Given the description of an element on the screen output the (x, y) to click on. 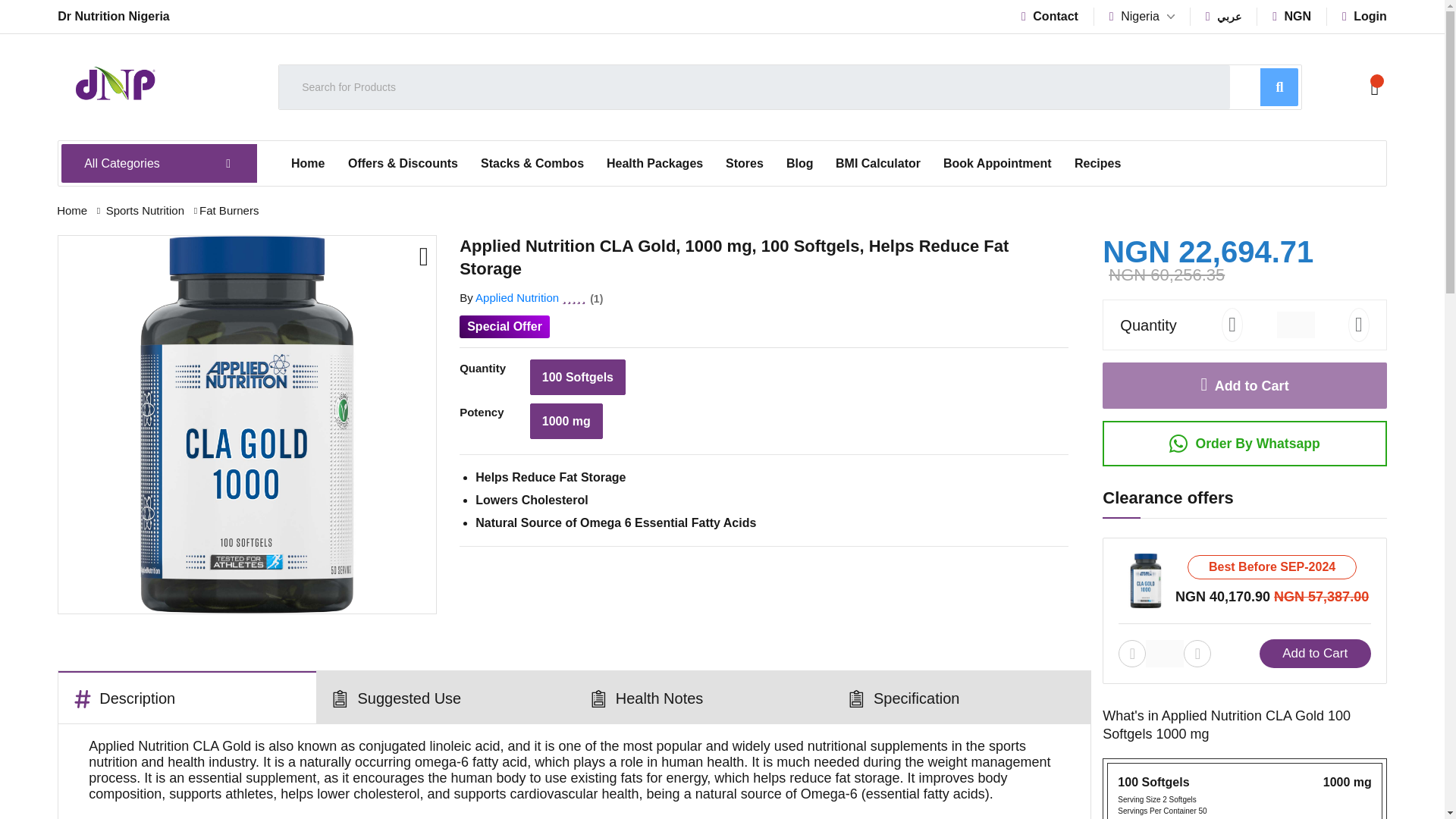
Login (1364, 16)
NGN (1291, 16)
Contact (1050, 16)
Login (1364, 16)
Stores (744, 163)
Health Packages (654, 163)
NGN (1291, 16)
Home (307, 163)
Contact (1050, 16)
